Given the description of an element on the screen output the (x, y) to click on. 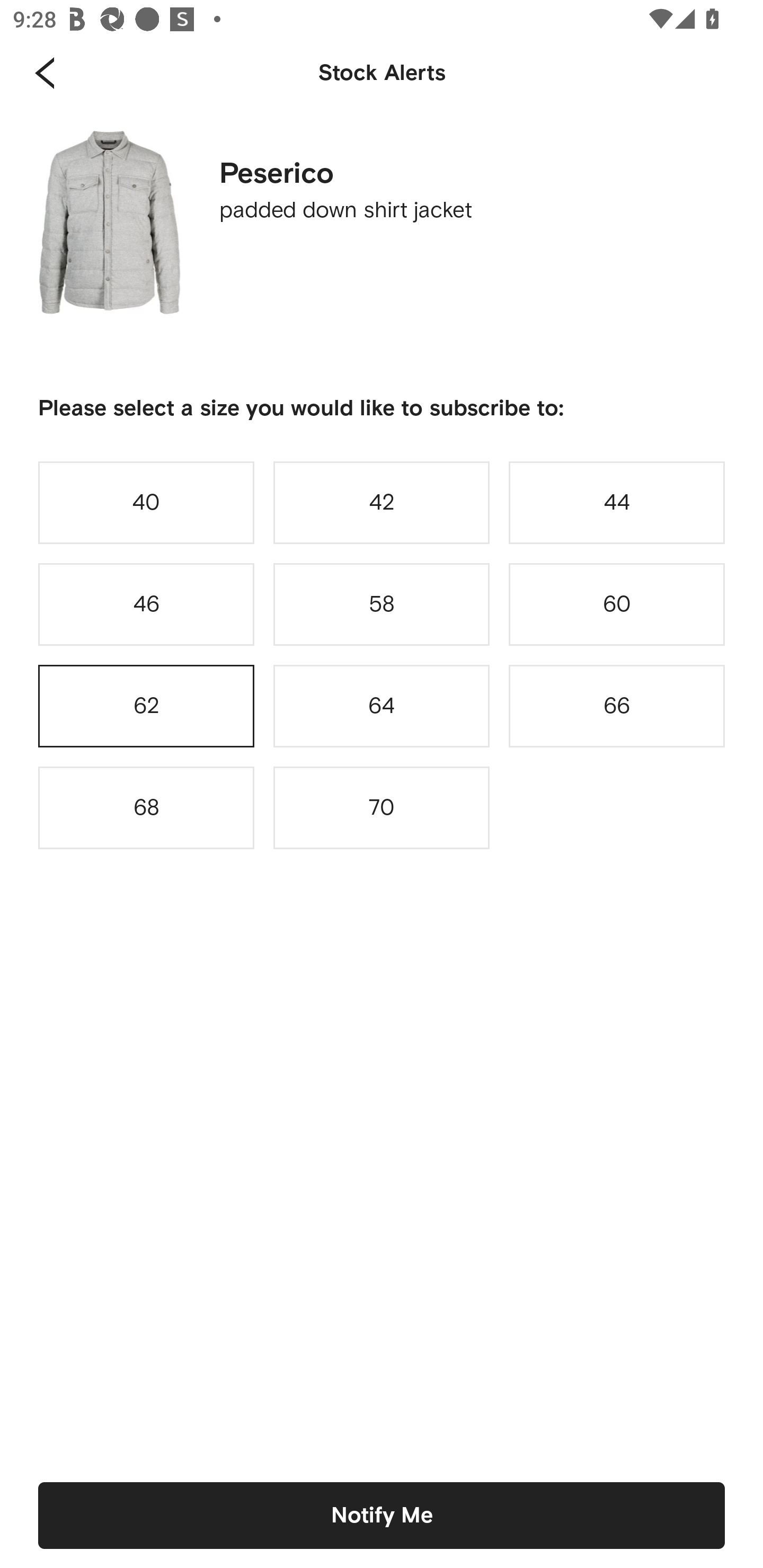
40 (146, 502)
42 (381, 502)
44 (616, 502)
46 (146, 604)
58 (381, 604)
60 (616, 604)
62 (146, 705)
64 (381, 705)
66 (616, 705)
68 (146, 807)
70 (381, 807)
Notify Me (381, 1515)
